Given the description of an element on the screen output the (x, y) to click on. 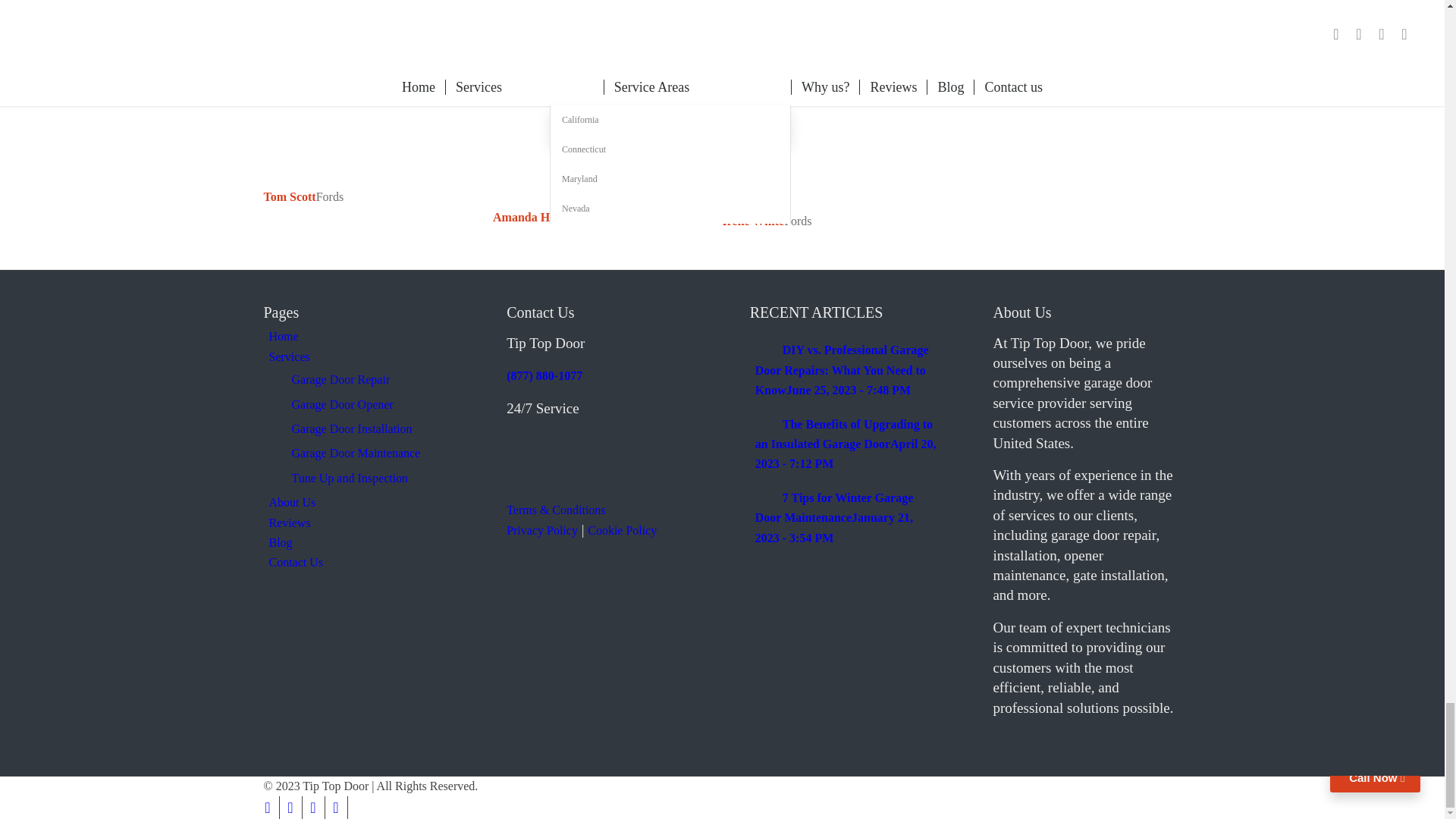
7 Tips for Winter Garage Door Maintenance (833, 517)
The Benefits of Upgrading to an Insulated Garage Door (845, 443)
